Given the description of an element on the screen output the (x, y) to click on. 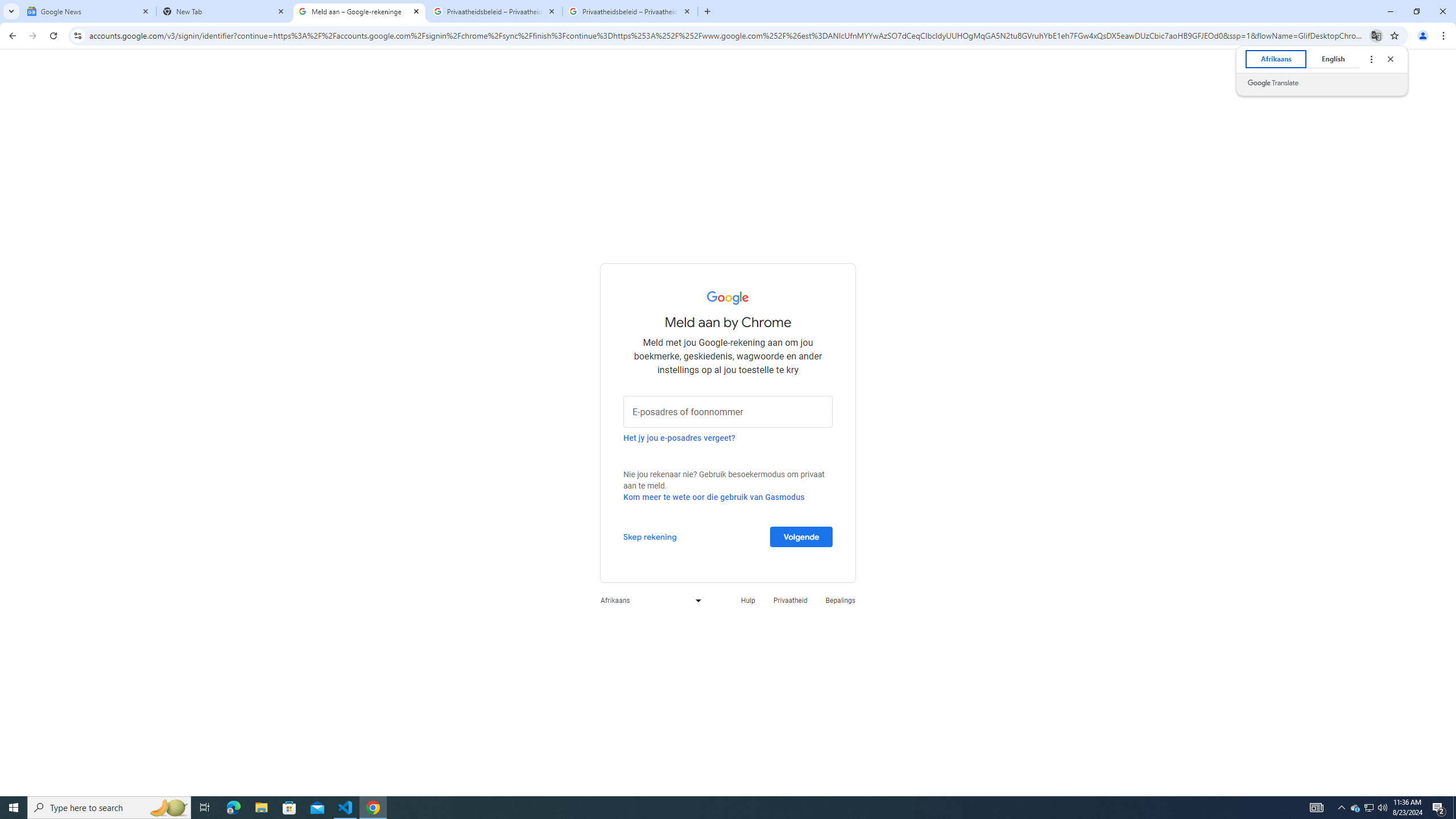
Address and search bar (726, 35)
Microsoft Edge (233, 807)
Search highlights icon opens search home window (167, 807)
Skep rekening (649, 536)
User Promoted Notification Area (1368, 807)
AutomationID: 4105 (1316, 807)
